Given the description of an element on the screen output the (x, y) to click on. 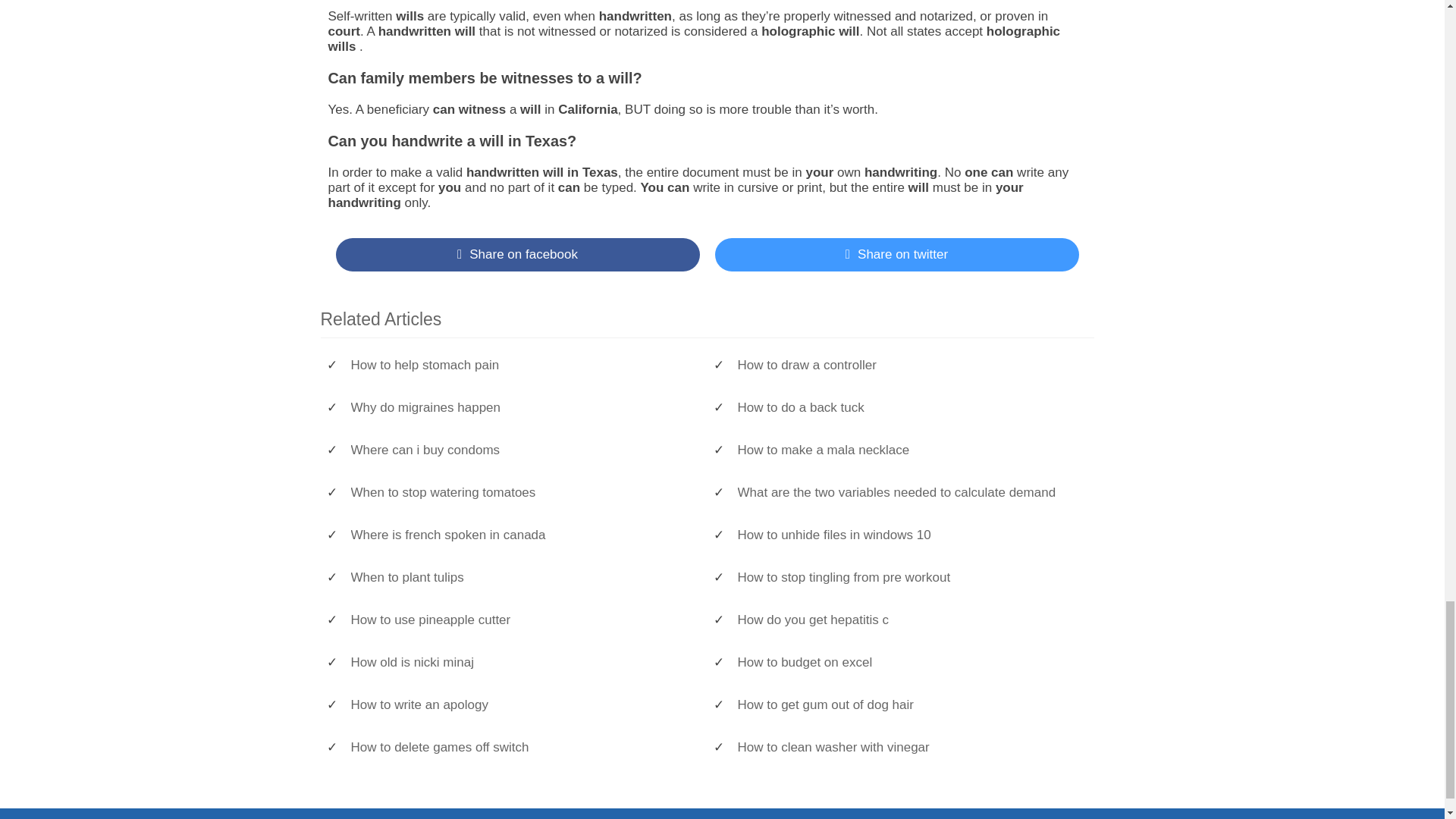
How to clean washer with vinegar (907, 747)
Where can i buy condoms (520, 450)
How to write an apology (520, 704)
How to do a back tuck (907, 407)
When to plant tulips (520, 577)
Share on Facebook (516, 254)
When to stop watering tomatoes (520, 492)
What are the two variables needed to calculate demand (907, 492)
When to plant tulips (520, 577)
How to use pineapple cutter (520, 620)
